Given the description of an element on the screen output the (x, y) to click on. 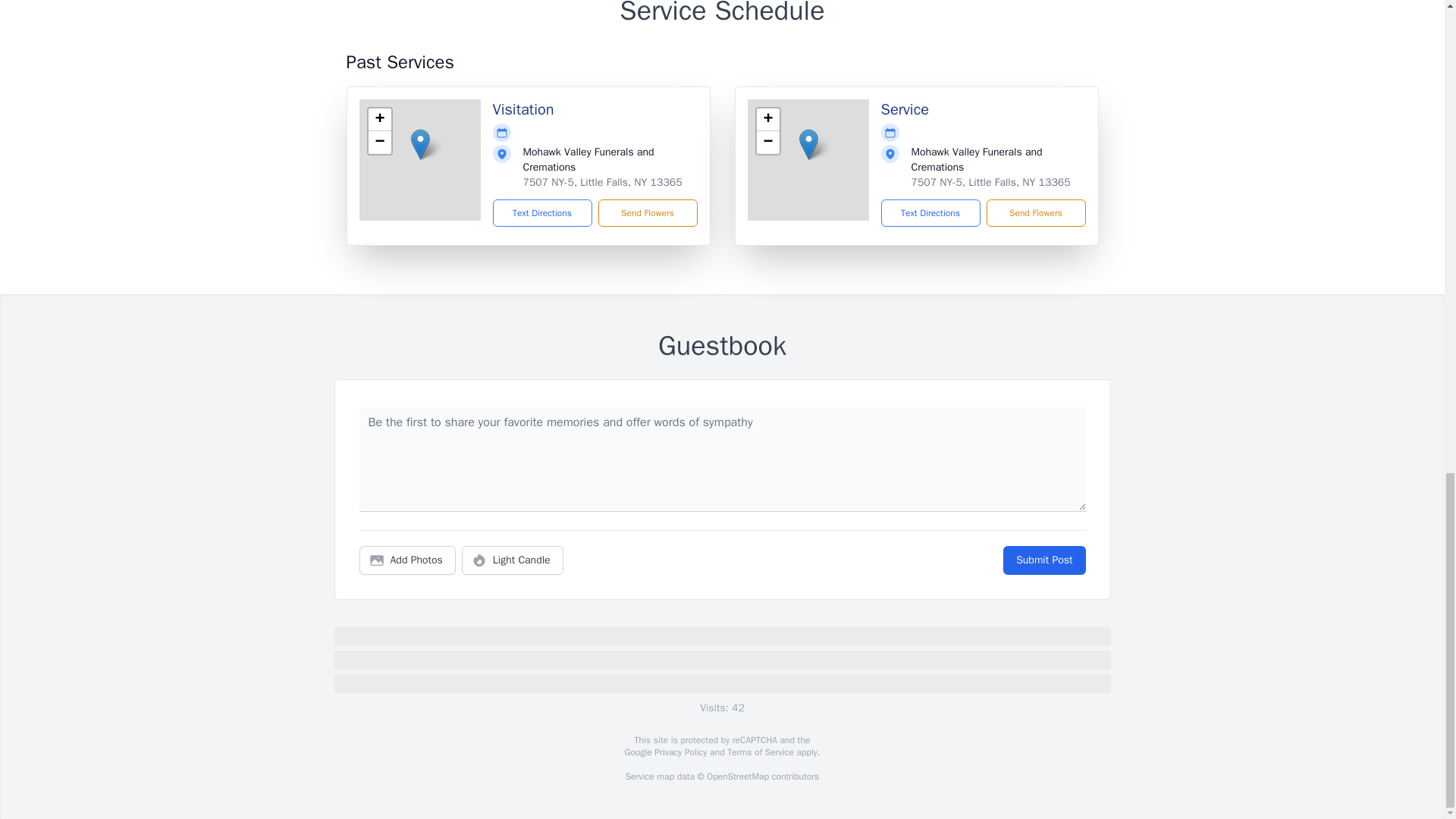
Zoom out (379, 142)
7507 NY-5, Little Falls, NY 13365 (602, 182)
Send Flowers (646, 212)
Send Flowers (1034, 212)
Light Candle (512, 560)
7507 NY-5, Little Falls, NY 13365 (990, 182)
Zoom in (379, 119)
OpenStreetMap (737, 776)
Zoom out (767, 142)
Zoom in (767, 119)
Terms of Service (759, 752)
Submit Post (1043, 560)
Privacy Policy (679, 752)
Add Photos (407, 560)
Text Directions (929, 212)
